Given the description of an element on the screen output the (x, y) to click on. 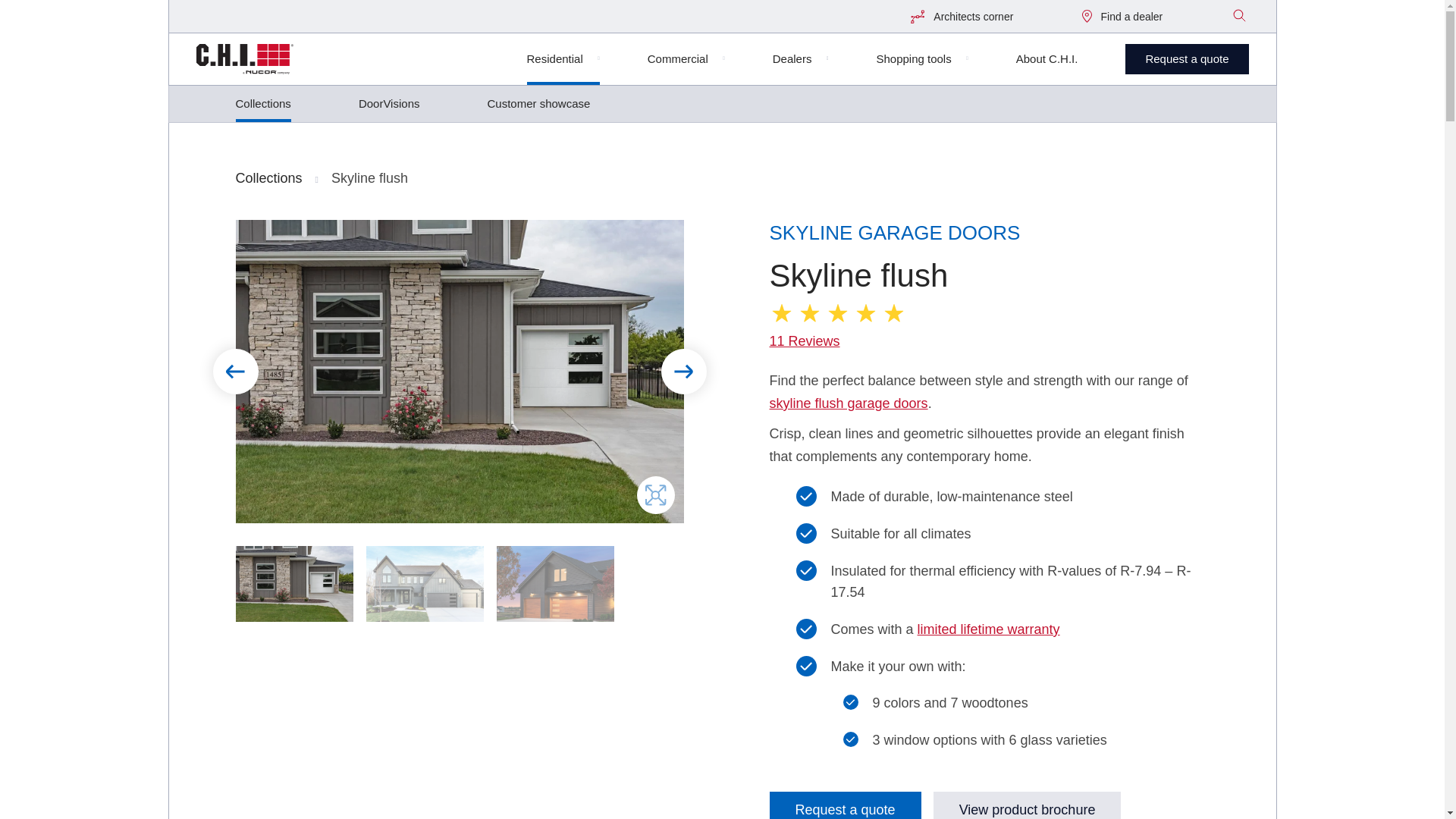
Architects corner (962, 16)
Commercial (686, 64)
Residential (563, 64)
Find a dealer (1122, 16)
